Given the description of an element on the screen output the (x, y) to click on. 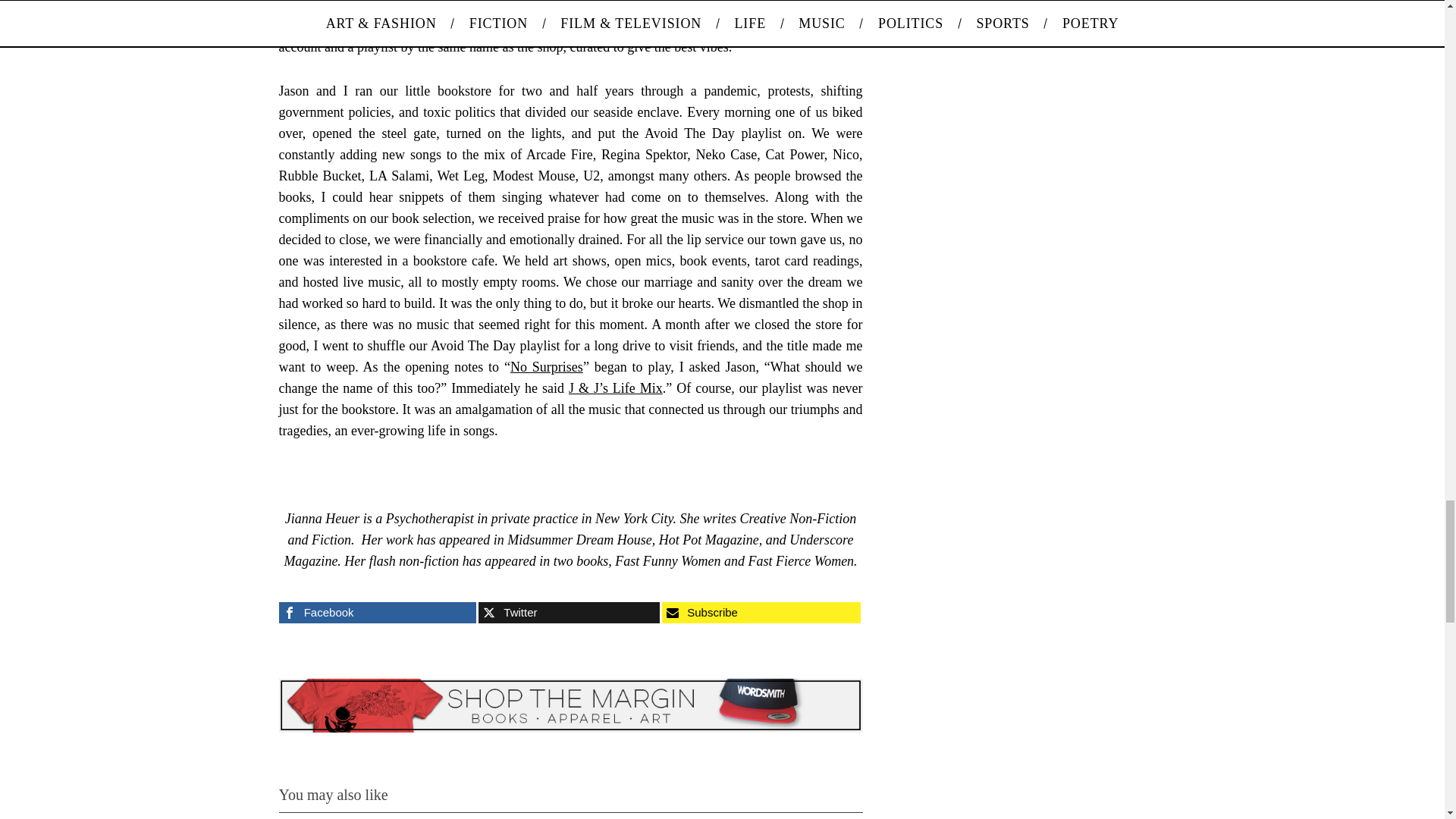
No Surprises (547, 366)
Facebook (378, 612)
Twitter (569, 612)
Avoid The Day Bookstore and Cafe (479, 25)
Subscribe (761, 612)
